Given the description of an element on the screen output the (x, y) to click on. 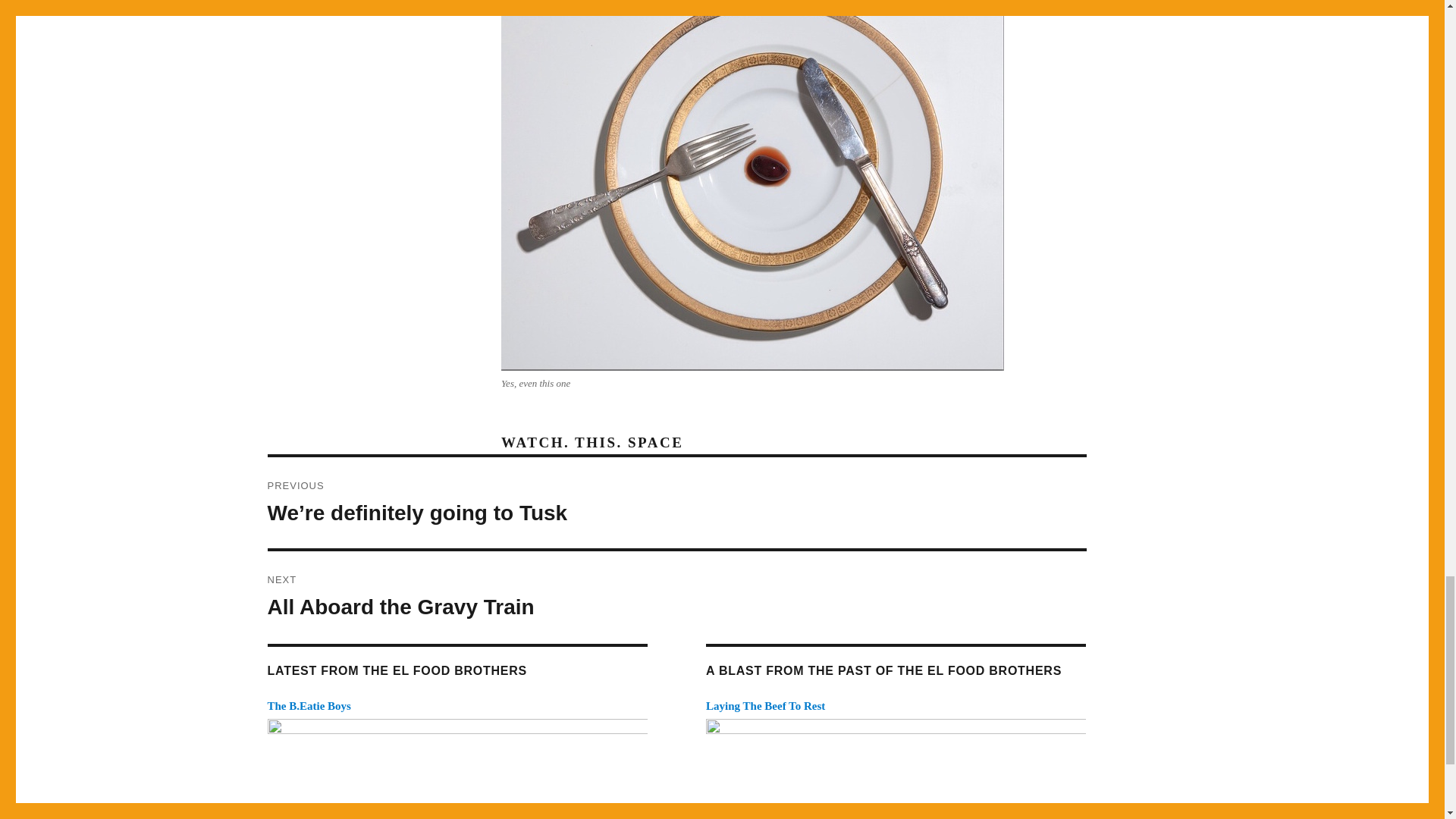
The B.Eatie Boys (308, 705)
Permanent link to The B.Eatie Boys (676, 596)
Laying The Beef To Rest (308, 705)
Permanent link to Laying The Beef To Rest (765, 705)
